Given the description of an element on the screen output the (x, y) to click on. 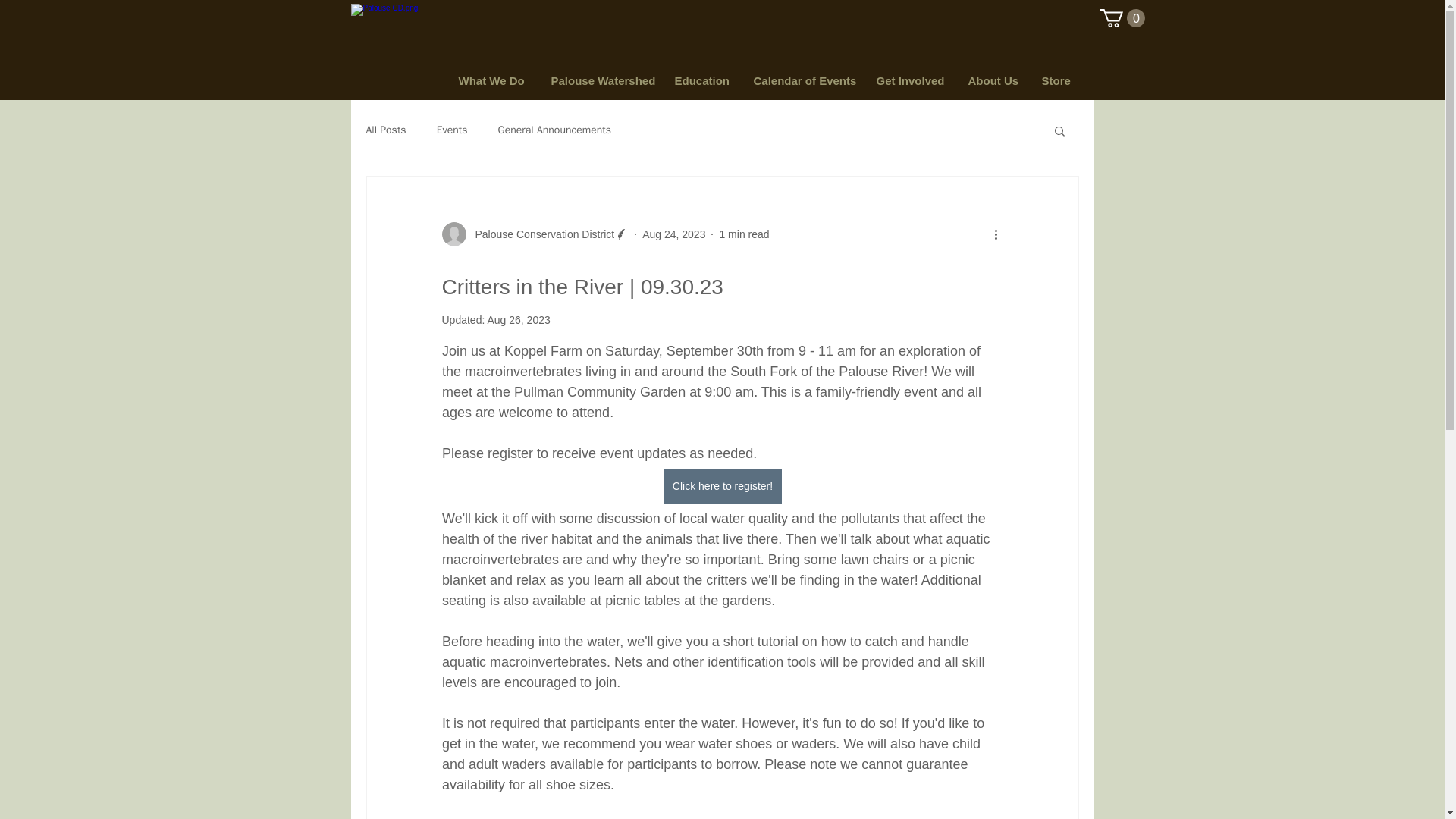
0 (1121, 18)
Aug 26, 2023 (518, 319)
Aug 24, 2023 (673, 234)
Palouse Conservation District (539, 234)
1 min read (743, 234)
